Given the description of an element on the screen output the (x, y) to click on. 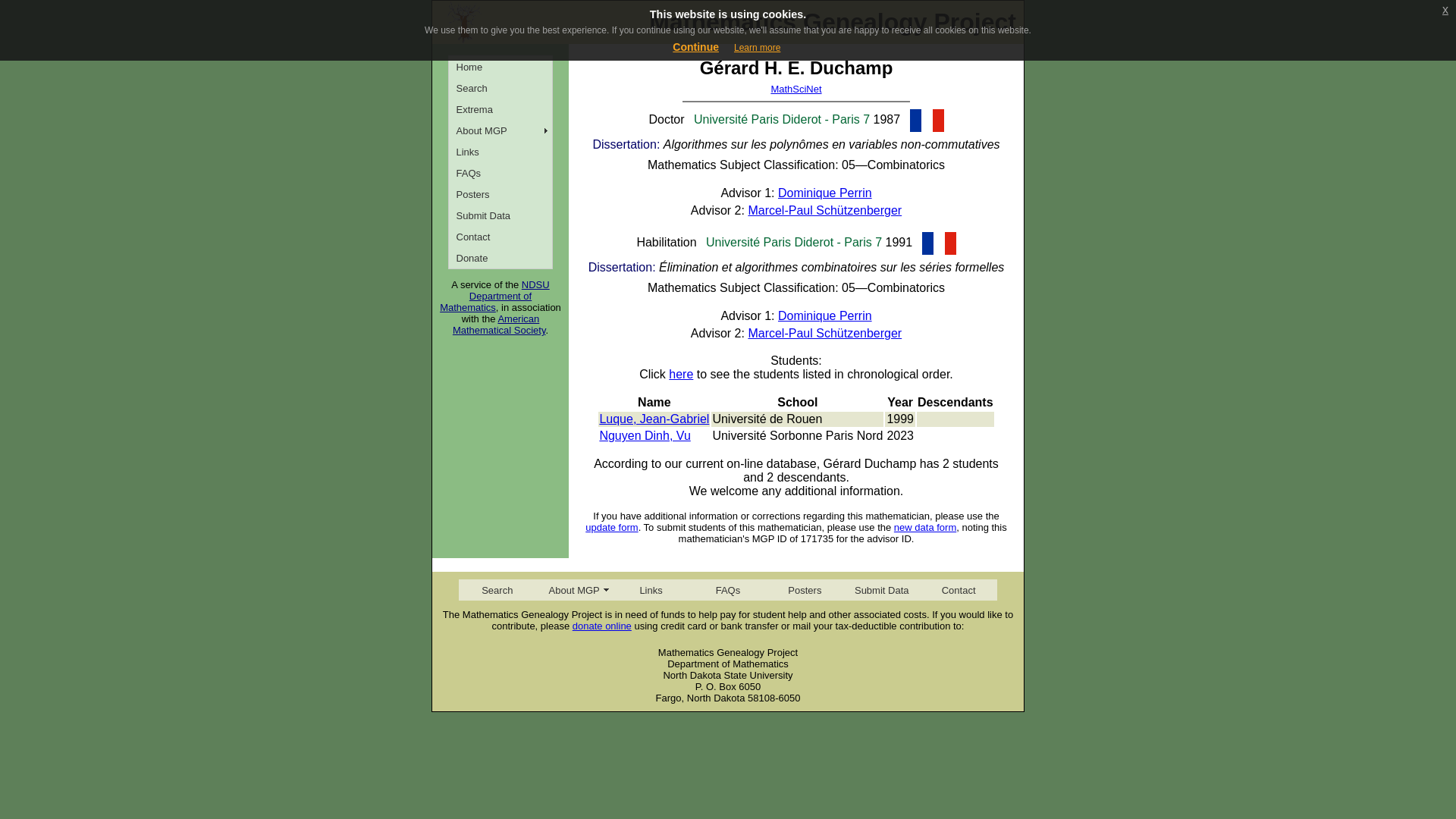
Submit Data (500, 215)
About MGP (500, 129)
here (680, 373)
Dominique Perrin (824, 315)
Links (500, 151)
FAQs (726, 589)
Donate (500, 257)
Contact (500, 236)
France (926, 119)
Nguyen Dinh, Vu (644, 435)
